Given the description of an element on the screen output the (x, y) to click on. 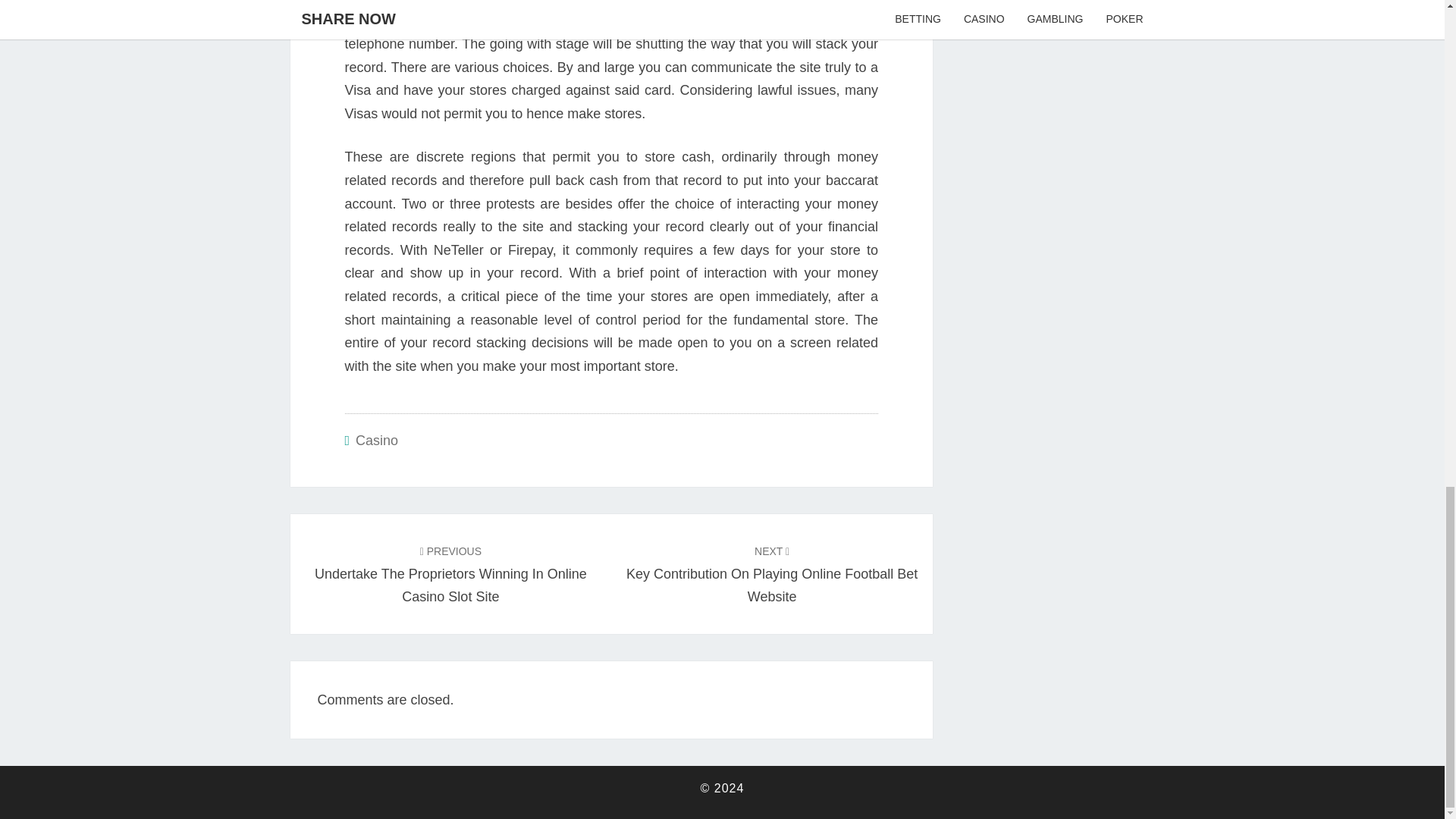
Casino (376, 440)
